Given the description of an element on the screen output the (x, y) to click on. 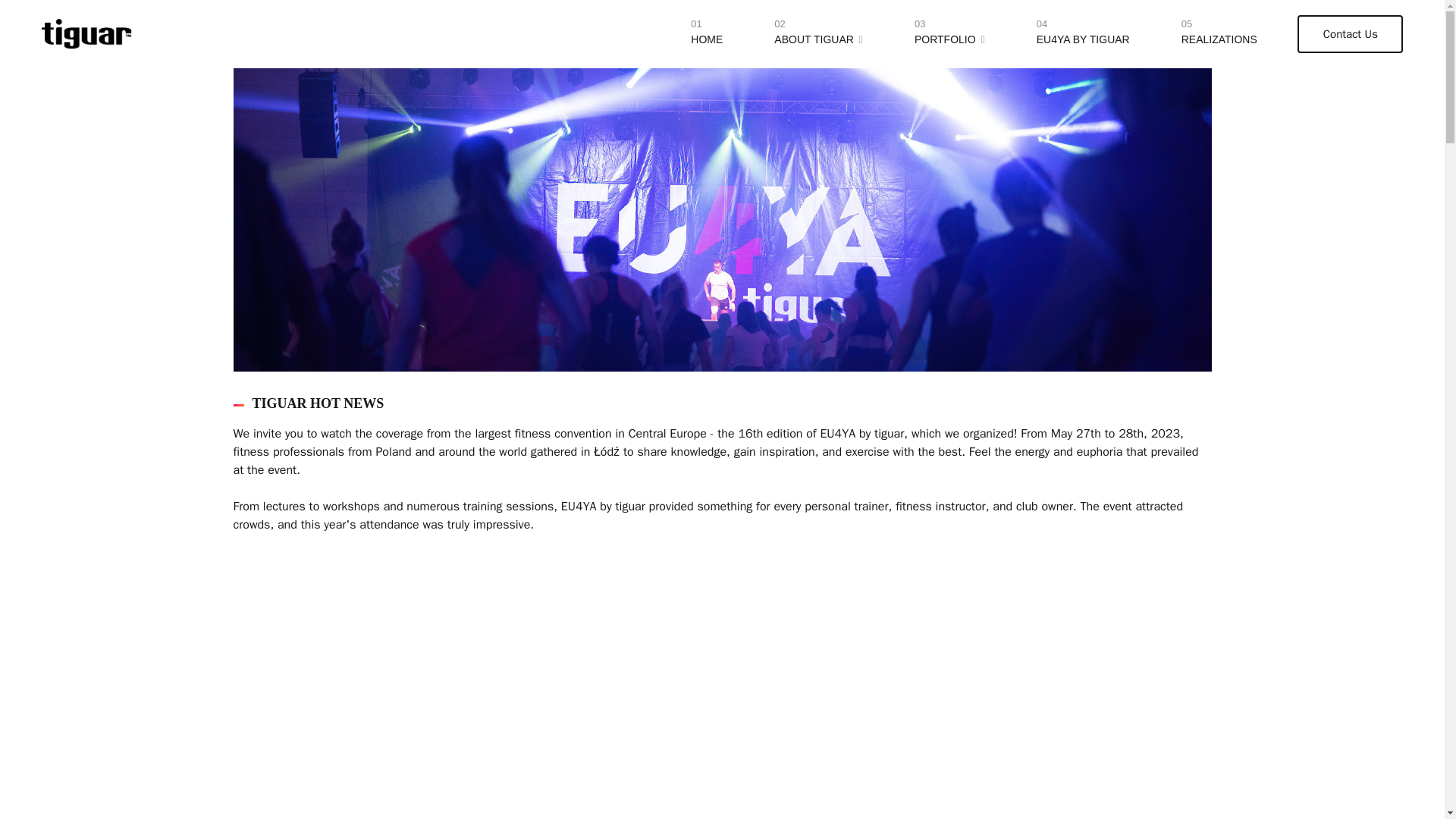
YouTube video player (1082, 40)
Contact Us (818, 40)
